Given the description of an element on the screen output the (x, y) to click on. 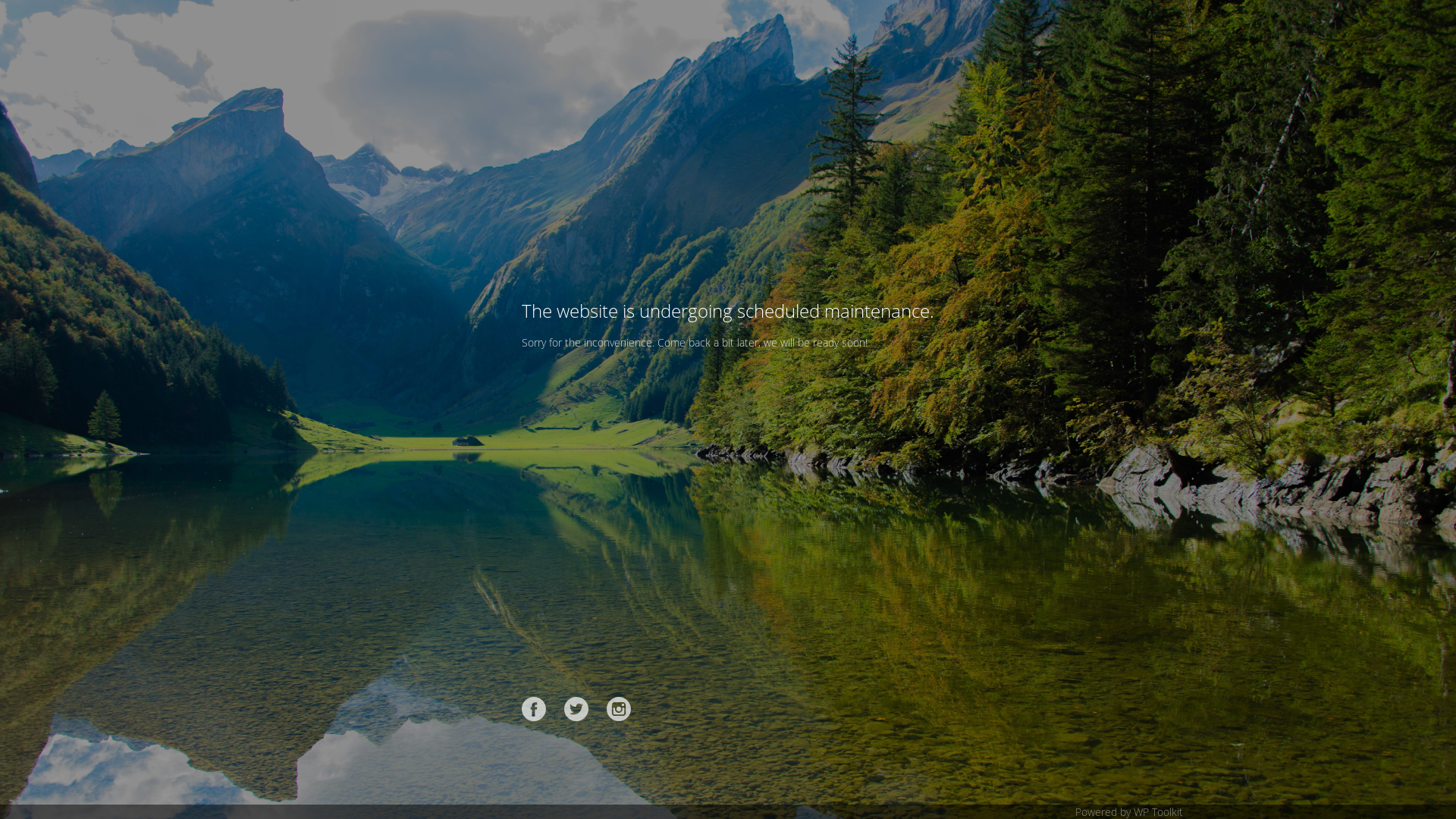
Facebook Element type: hover (533, 708)
Instagram Element type: hover (618, 708)
Twitter Element type: hover (576, 708)
